Given the description of an element on the screen output the (x, y) to click on. 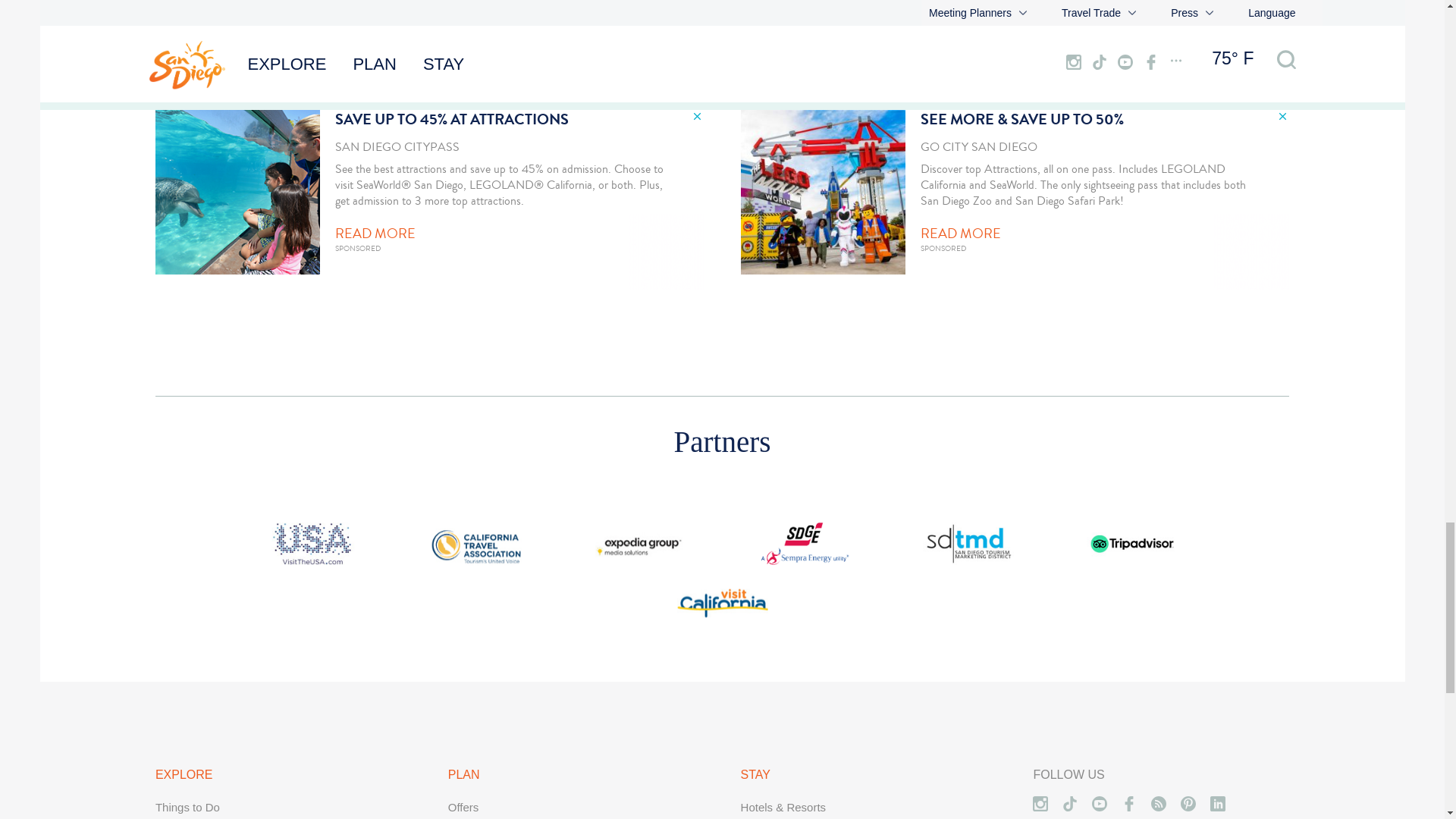
3rd party ad content (1014, 199)
3rd party ad content (429, 199)
